Given the description of an element on the screen output the (x, y) to click on. 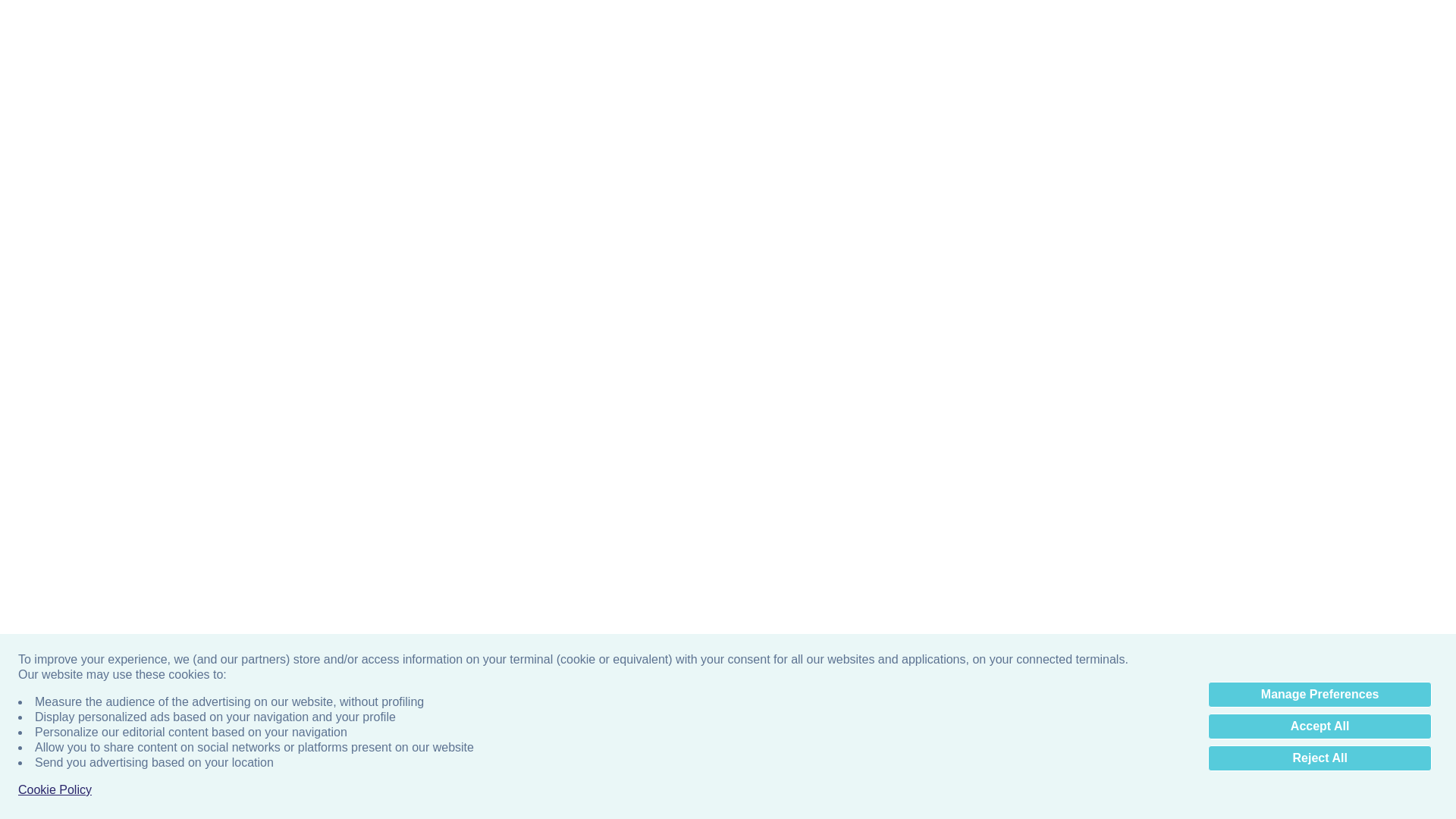
Reject All (1319, 451)
Accept All (1319, 420)
Cookie Policy (54, 483)
Manage Preferences (1319, 388)
